Given the description of an element on the screen output the (x, y) to click on. 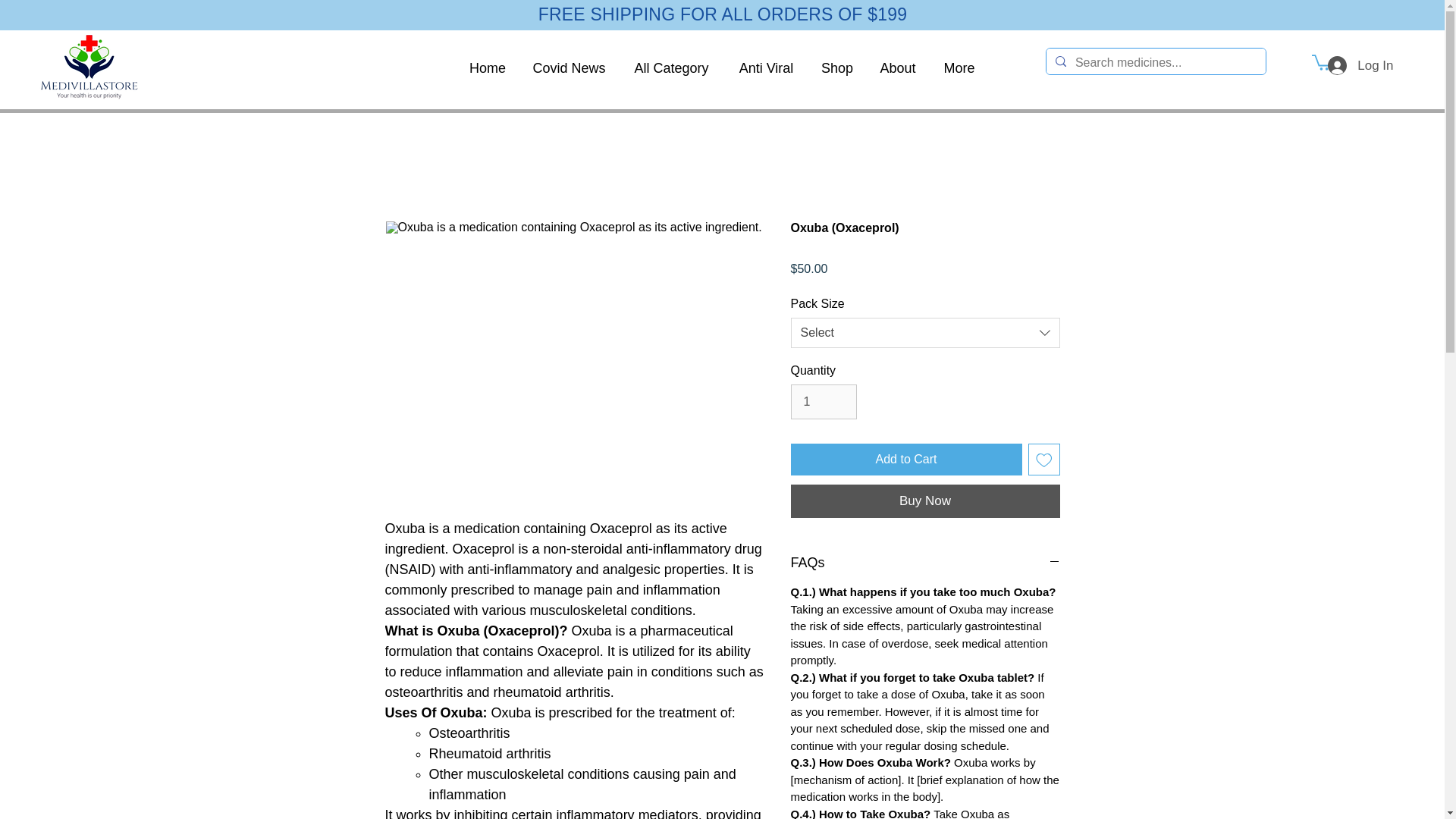
Add to Cart (906, 459)
Covid News (568, 67)
Select (924, 332)
Log In (1360, 65)
About (898, 67)
Home (488, 67)
Shop (836, 67)
Anti Viral (765, 67)
All Category (670, 67)
1 (823, 401)
